Given the description of an element on the screen output the (x, y) to click on. 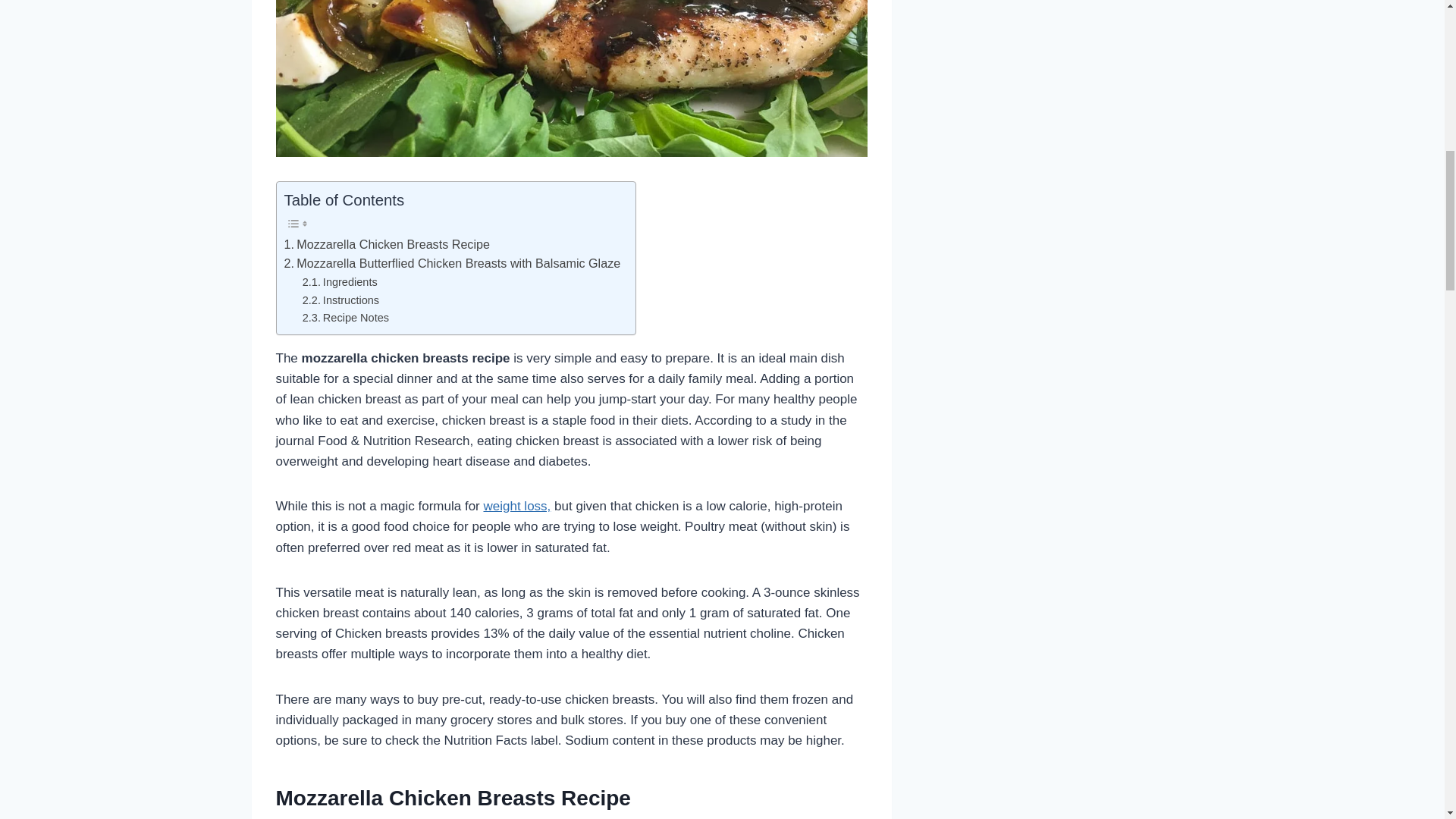
Mozzarella Chicken Breasts Recipe (386, 244)
Recipe Notes (345, 317)
Mozzarella Butterflied Chicken Breasts with Balsamic Glaze (451, 263)
Mozzarella Chicken Breasts Recipe 1 (571, 78)
Instructions (340, 300)
Instructions (340, 300)
weight loss, (516, 505)
Mozzarella Butterflied Chicken Breasts with Balsamic Glaze (451, 263)
Recipe Notes (345, 317)
Ingredients (339, 282)
Mozzarella Chicken Breasts Recipe (386, 244)
Ingredients (339, 282)
